Given the description of an element on the screen output the (x, y) to click on. 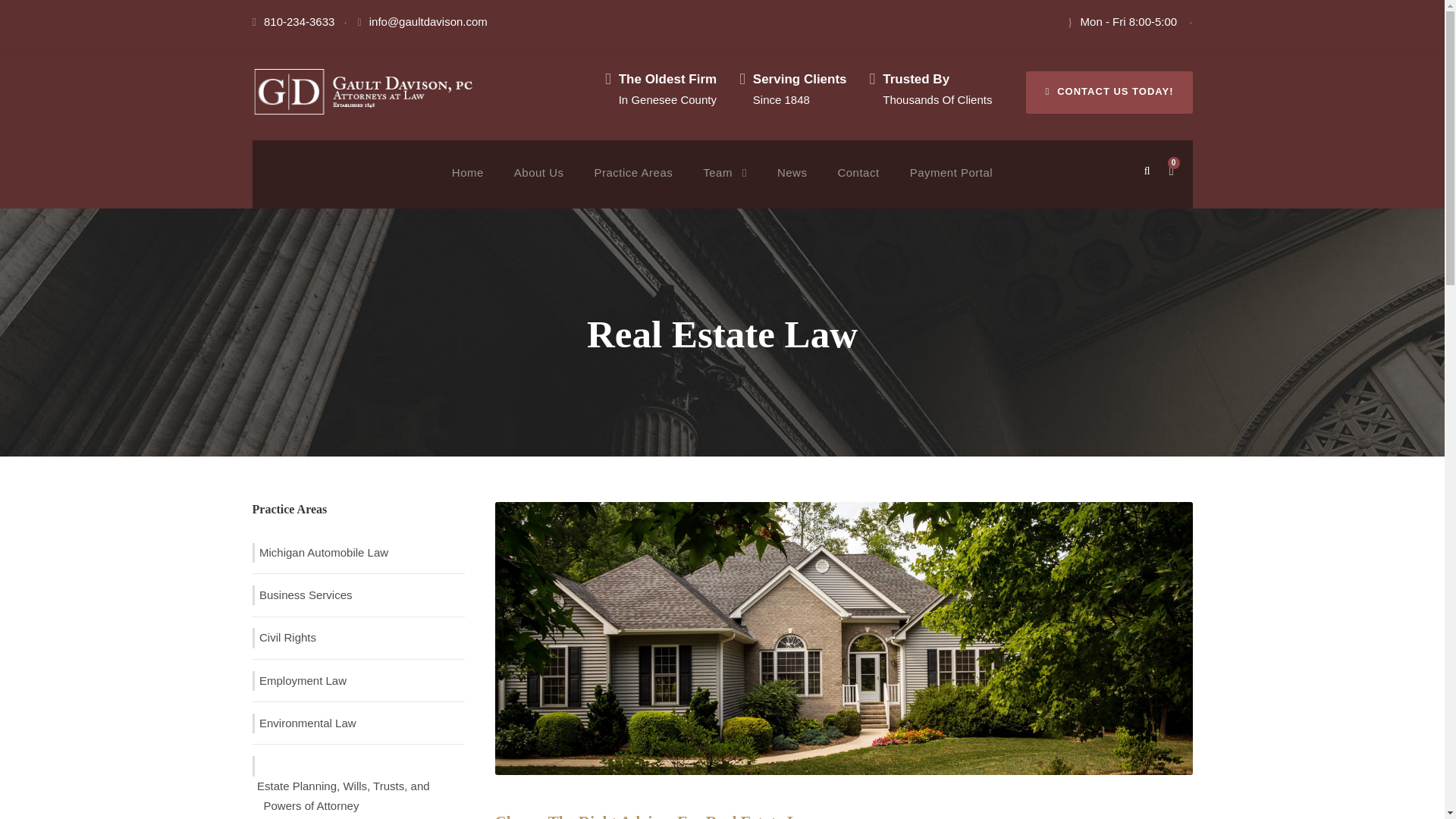
Practice Areas (633, 185)
Estate Planning, Wills, Trusts, and Powers of Attorney (357, 795)
About Us (538, 185)
Civil Rights (285, 638)
Michigan Automobile Law (321, 552)
Contact (858, 185)
Employment Law (300, 680)
Team (724, 185)
Business Services (303, 595)
Payment Portal (951, 185)
gd-logo3 (365, 91)
Environmental Law (305, 723)
CONTACT US TODAY! (1109, 92)
